Given the description of an element on the screen output the (x, y) to click on. 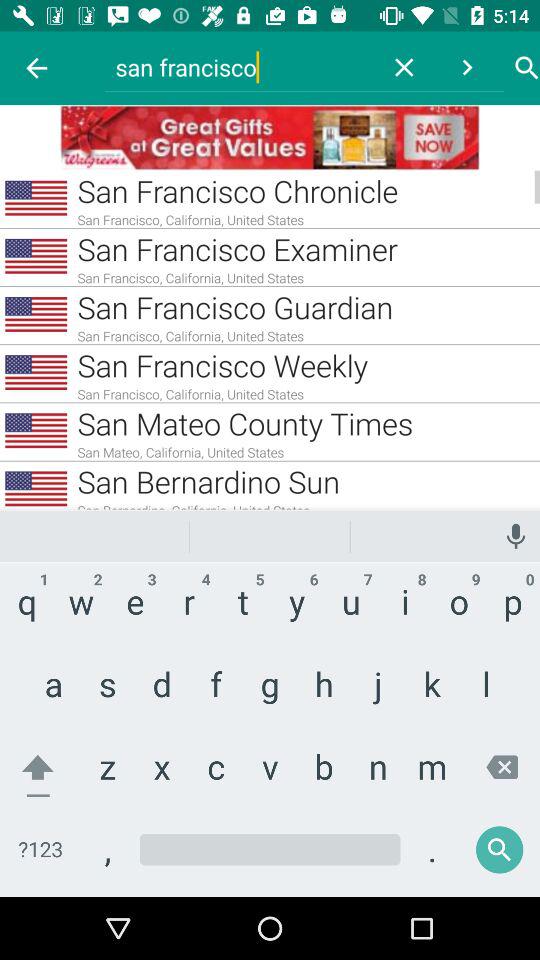
click on the arrow which is beside search option (477, 67)
